Given the description of an element on the screen output the (x, y) to click on. 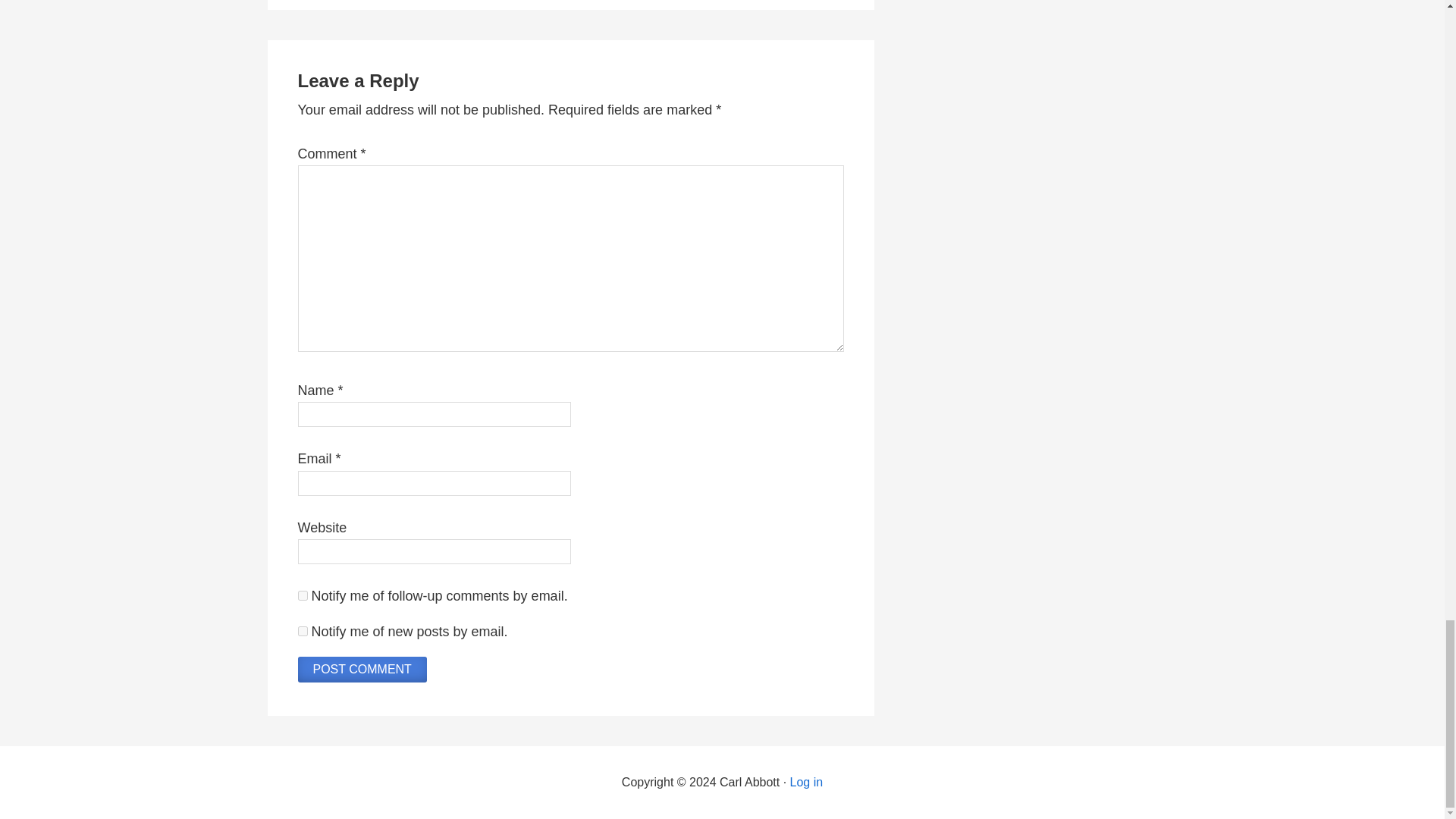
Post Comment (361, 669)
Post Comment (361, 669)
subscribe (302, 631)
subscribe (302, 595)
